Given the description of an element on the screen output the (x, y) to click on. 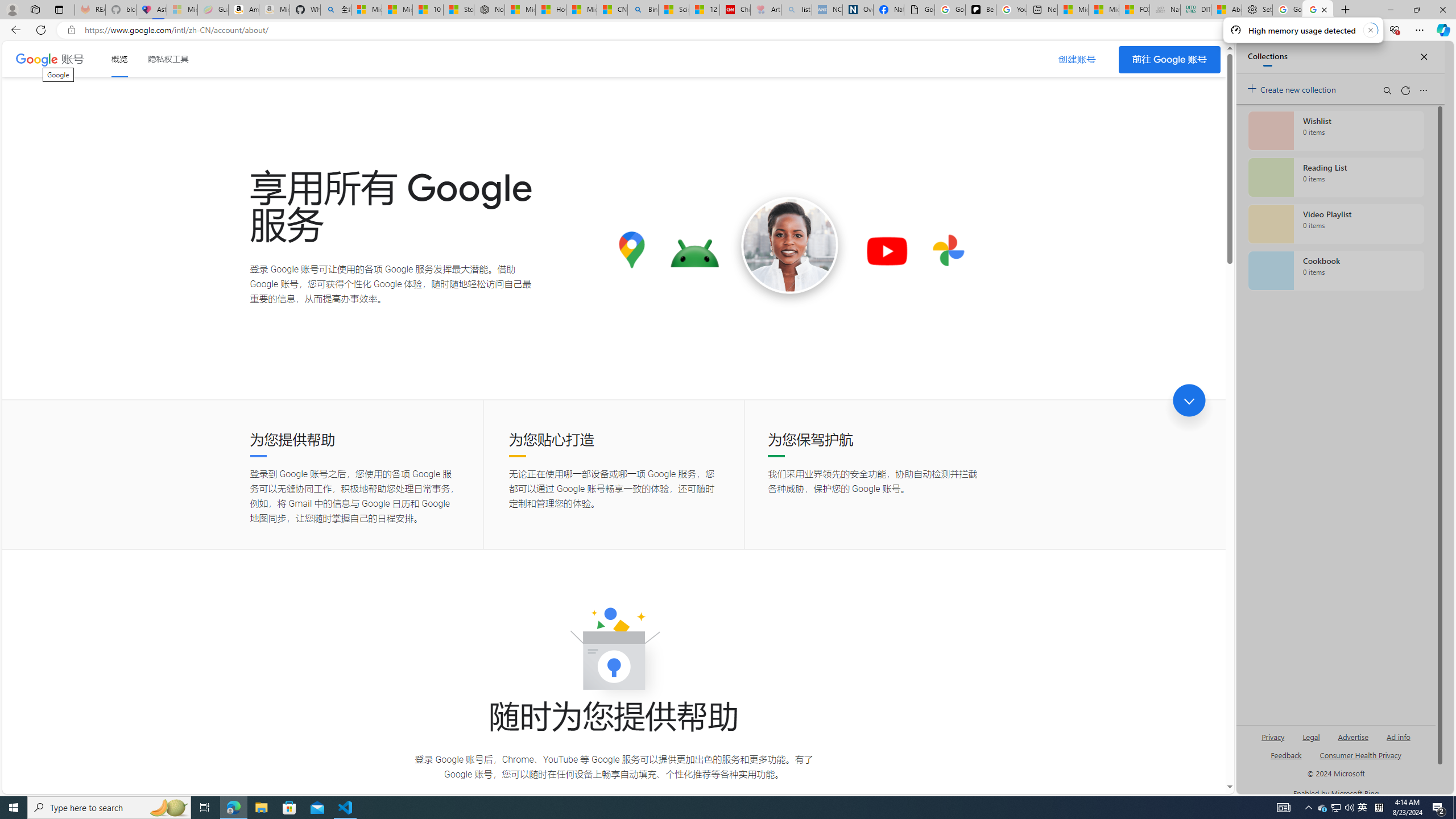
High memory usage detected (1302, 30)
Google Analytics Opt-out Browser Add-on Download Page (919, 9)
